Given the description of an element on the screen output the (x, y) to click on. 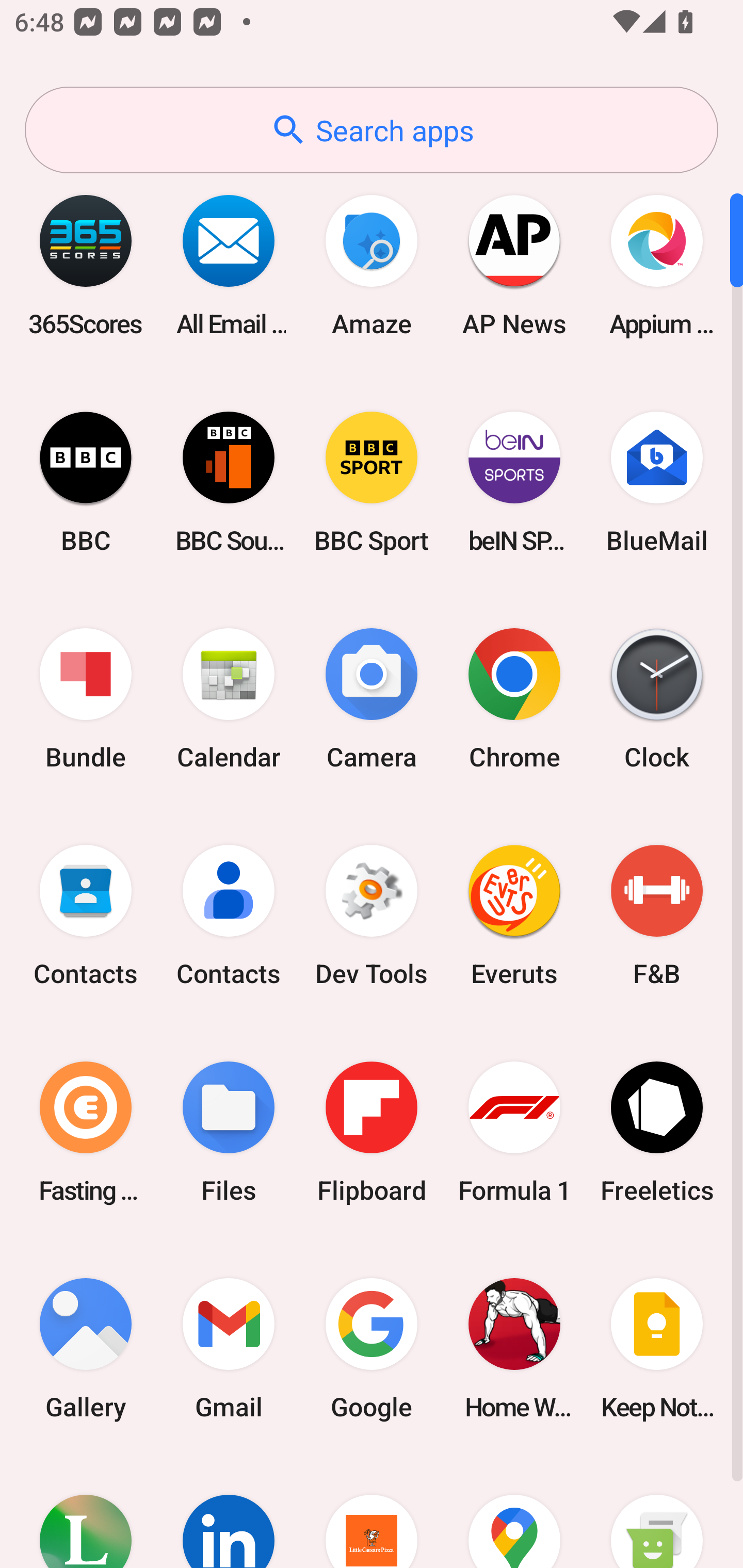
  Search apps (371, 130)
365Scores (85, 264)
All Email Connect (228, 264)
Amaze (371, 264)
AP News (514, 264)
Appium Settings (656, 264)
BBC (85, 482)
BBC Sounds (228, 482)
BBC Sport (371, 482)
beIN SPORTS (514, 482)
BlueMail (656, 482)
Bundle (85, 699)
Calendar (228, 699)
Camera (371, 699)
Chrome (514, 699)
Clock (656, 699)
Contacts (85, 915)
Contacts (228, 915)
Dev Tools (371, 915)
Everuts (514, 915)
F&B (656, 915)
Fasting Coach (85, 1131)
Files (228, 1131)
Flipboard (371, 1131)
Formula 1 (514, 1131)
Freeletics (656, 1131)
Gallery (85, 1348)
Gmail (228, 1348)
Google (371, 1348)
Home Workout (514, 1348)
Keep Notes (656, 1348)
Lifesum (85, 1512)
LinkedIn (228, 1512)
Little Caesars Pizza (371, 1512)
Maps (514, 1512)
Messaging (656, 1512)
